Given the description of an element on the screen output the (x, y) to click on. 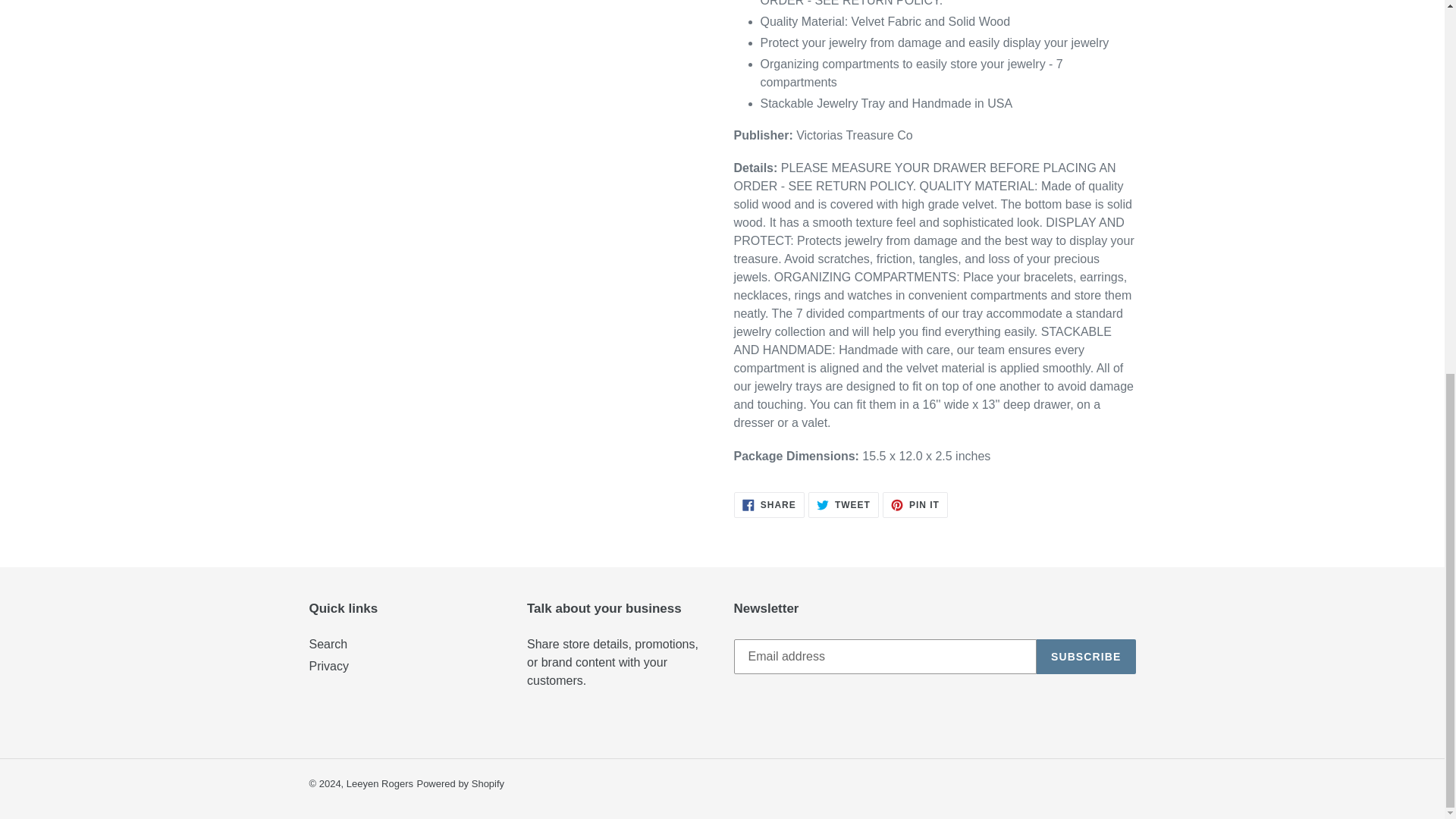
Powered by Shopify (459, 783)
Search (327, 644)
Leeyen Rogers (843, 504)
SUBSCRIBE (379, 783)
Privacy (1085, 656)
